Given the description of an element on the screen output the (x, y) to click on. 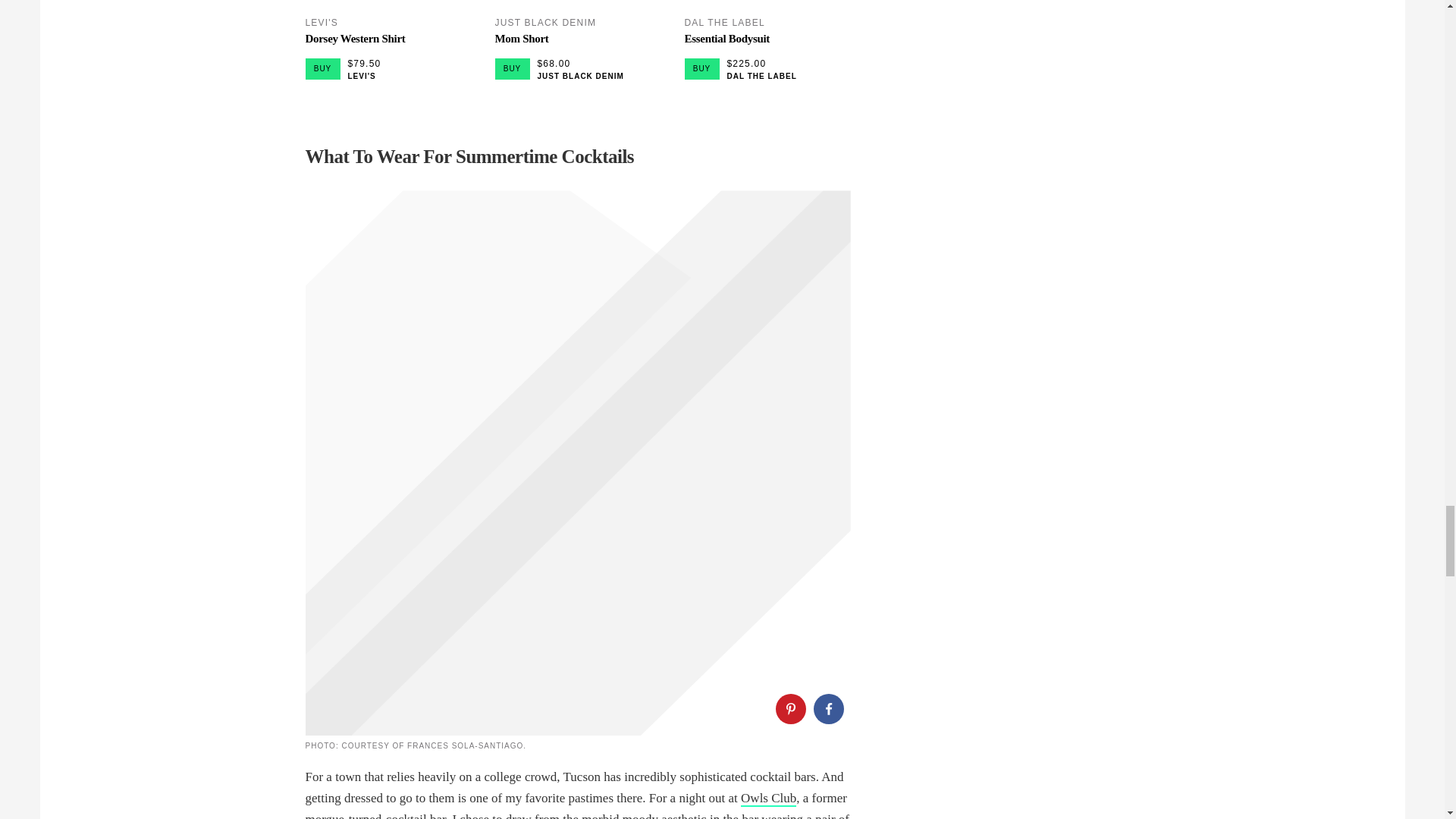
Share on Pinterest (789, 708)
